Given the description of an element on the screen output the (x, y) to click on. 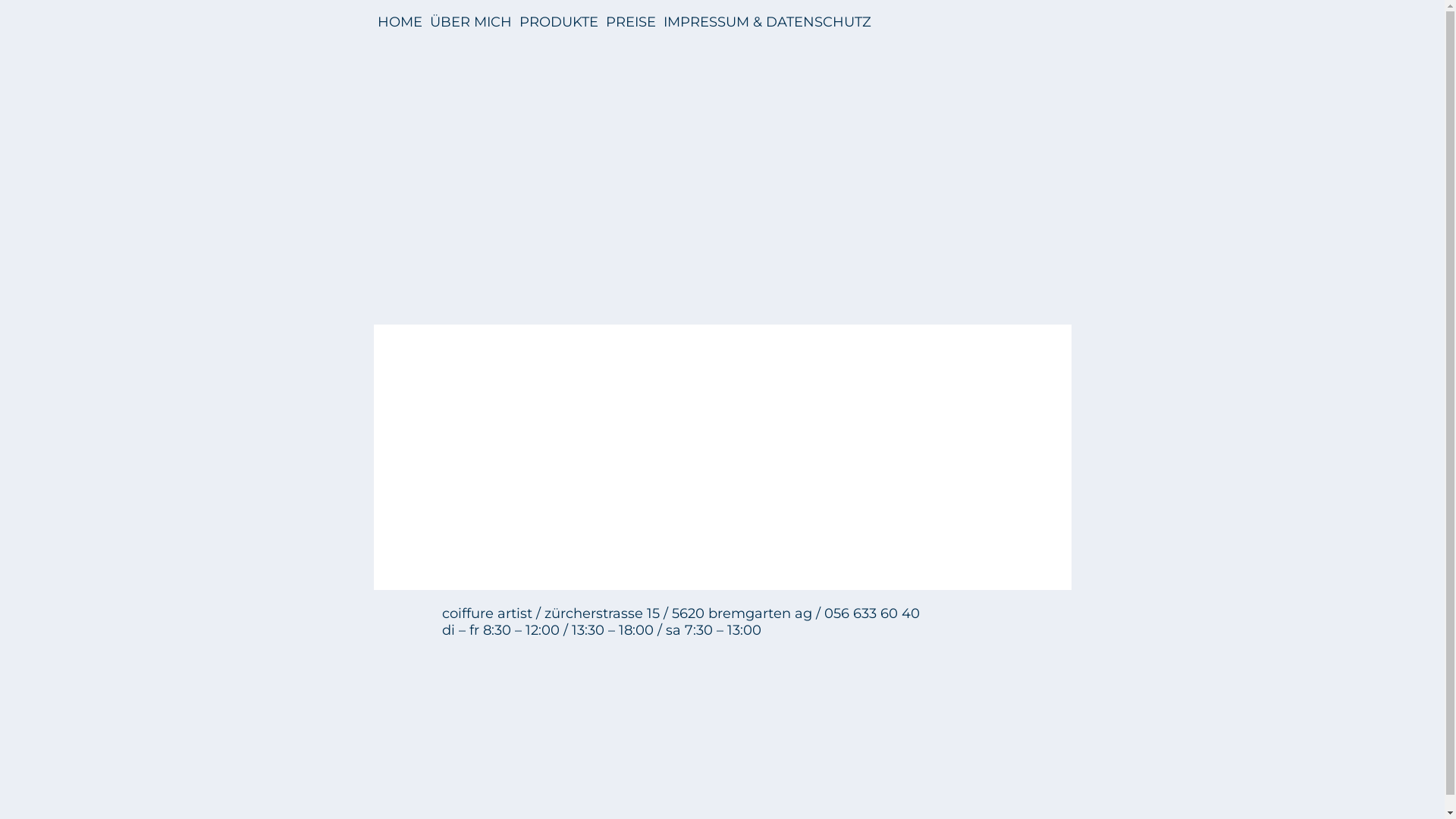
PRODUKTE Element type: text (557, 21)
HOME Element type: text (399, 21)
IMPRESSUM & DATENSCHUTZ Element type: text (766, 21)
PREISE Element type: text (630, 21)
